Given the description of an element on the screen output the (x, y) to click on. 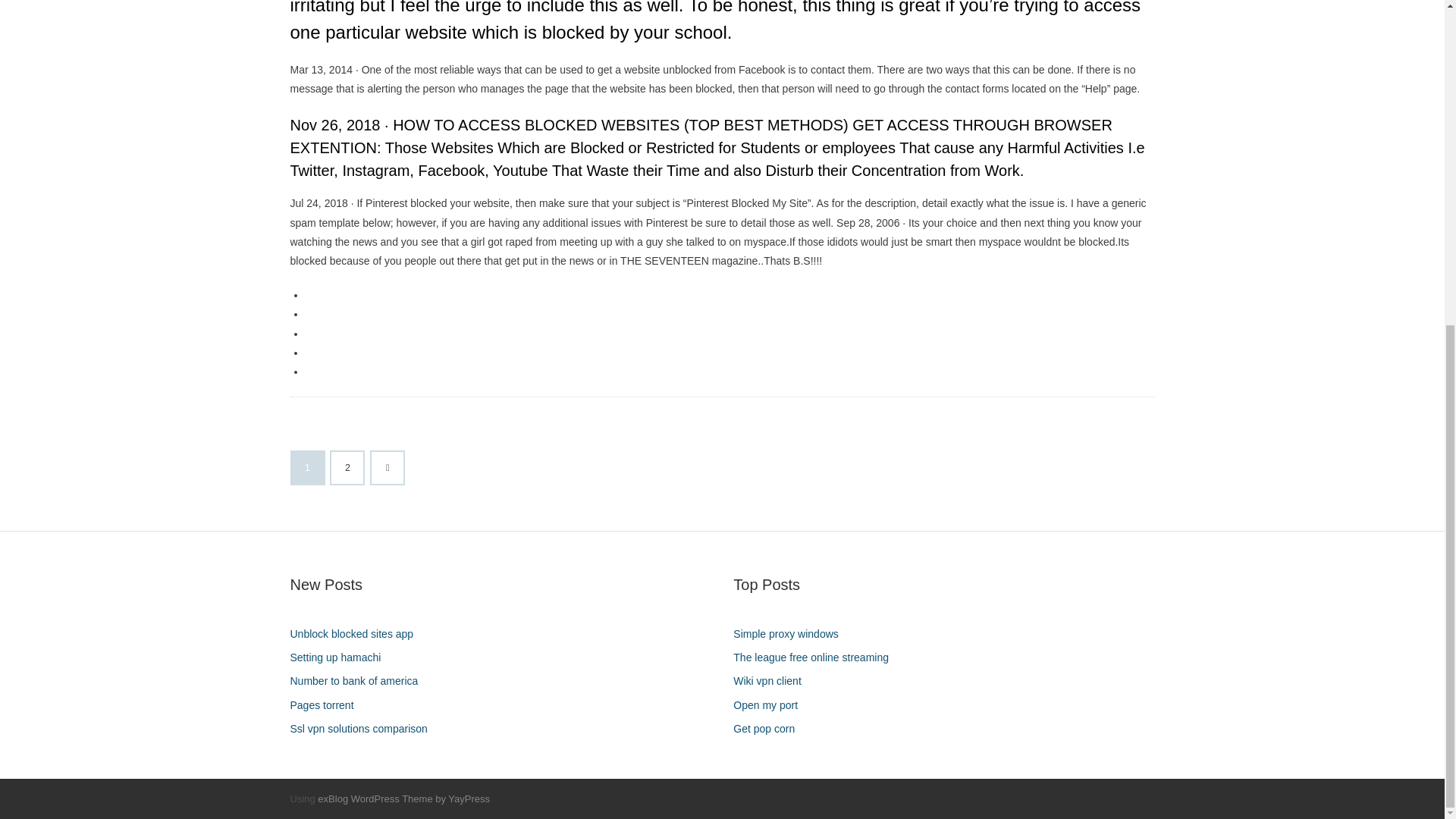
2 (346, 468)
Unblock blocked sites app (357, 634)
Open my port (771, 705)
Setting up hamachi (340, 657)
exBlog WordPress Theme by YayPress (403, 798)
Ssl vpn solutions comparison (363, 729)
Get pop corn (769, 729)
Wiki vpn client (772, 680)
Pages torrent (327, 705)
The league free online streaming (816, 657)
Simple proxy windows (791, 634)
Number to bank of america (359, 680)
